Given the description of an element on the screen output the (x, y) to click on. 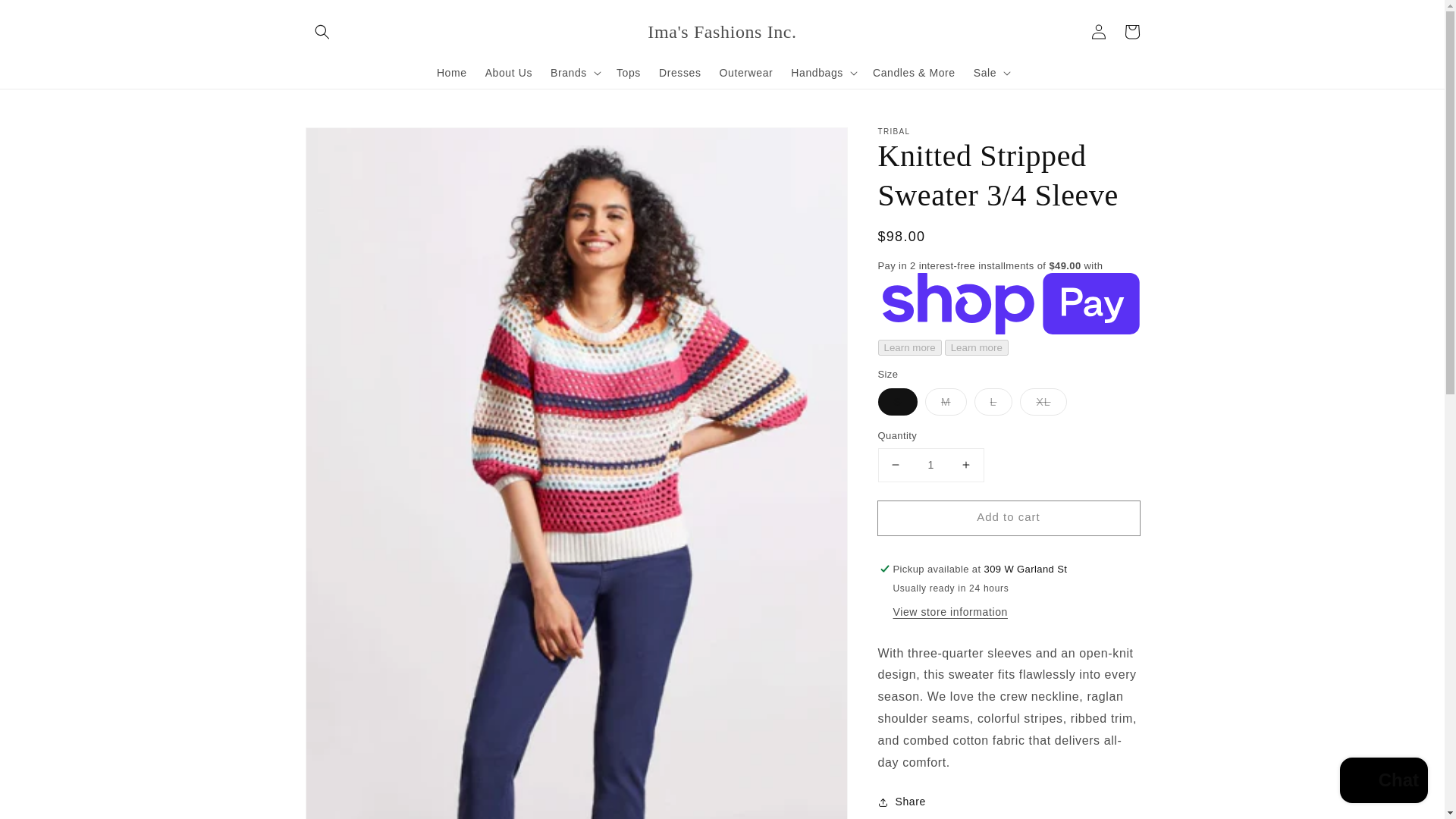
Shopify online store chat (1383, 781)
1 (930, 464)
Skip to content (45, 16)
